Given the description of an element on the screen output the (x, y) to click on. 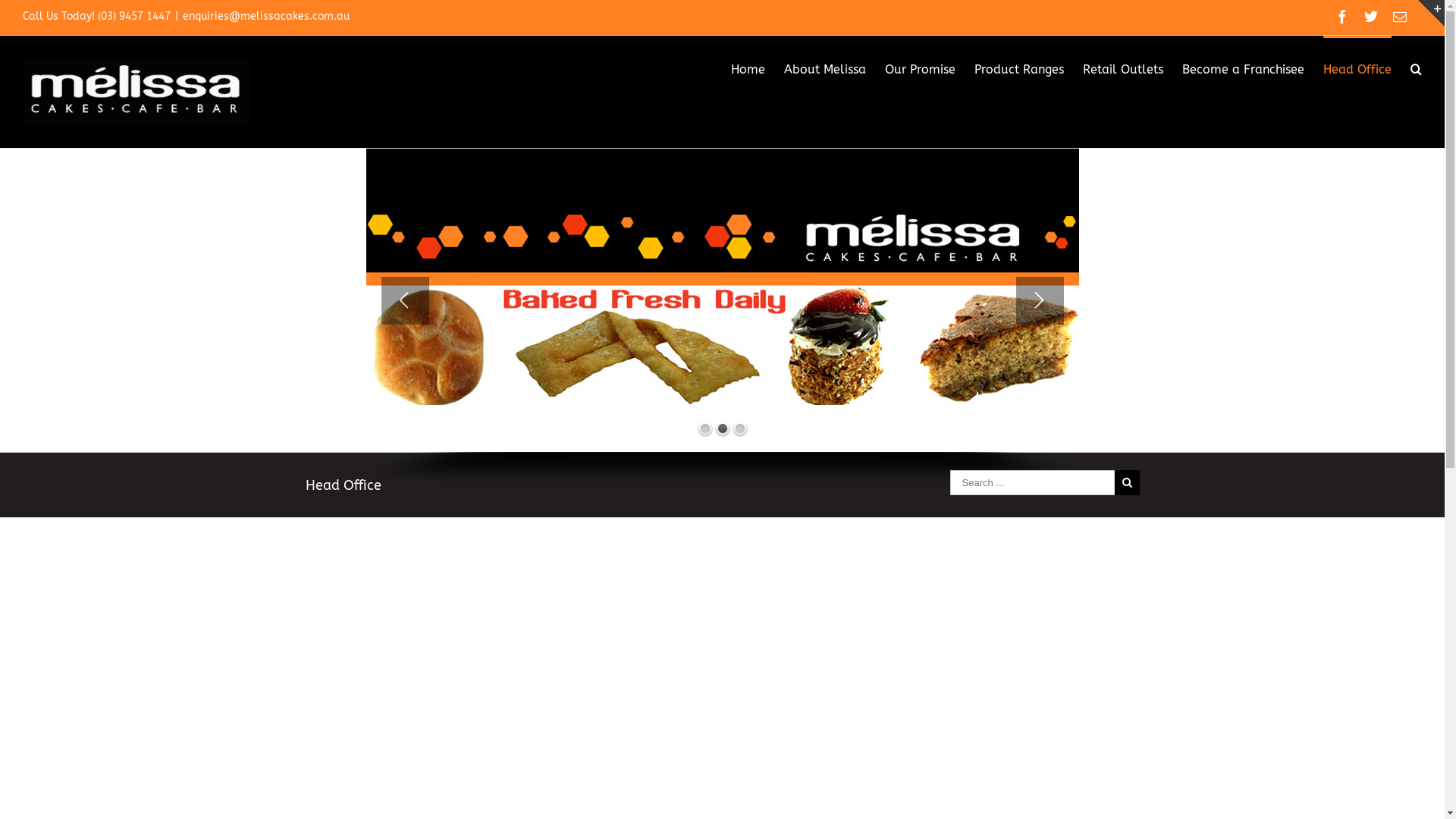
enquiries@melissacakes.com.au Element type: text (265, 15)
Mail Element type: hover (1399, 16)
Product Ranges Element type: text (1018, 67)
Retail Outlets Element type: text (1122, 67)
Head Office Element type: text (1357, 67)
About Melissa Element type: text (825, 67)
Twitter Element type: hover (1370, 16)
Facebook Element type: hover (1342, 16)
Become a Franchisee Element type: text (1243, 67)
Home Element type: text (748, 67)
Our Promise Element type: text (919, 67)
